Given the description of an element on the screen output the (x, y) to click on. 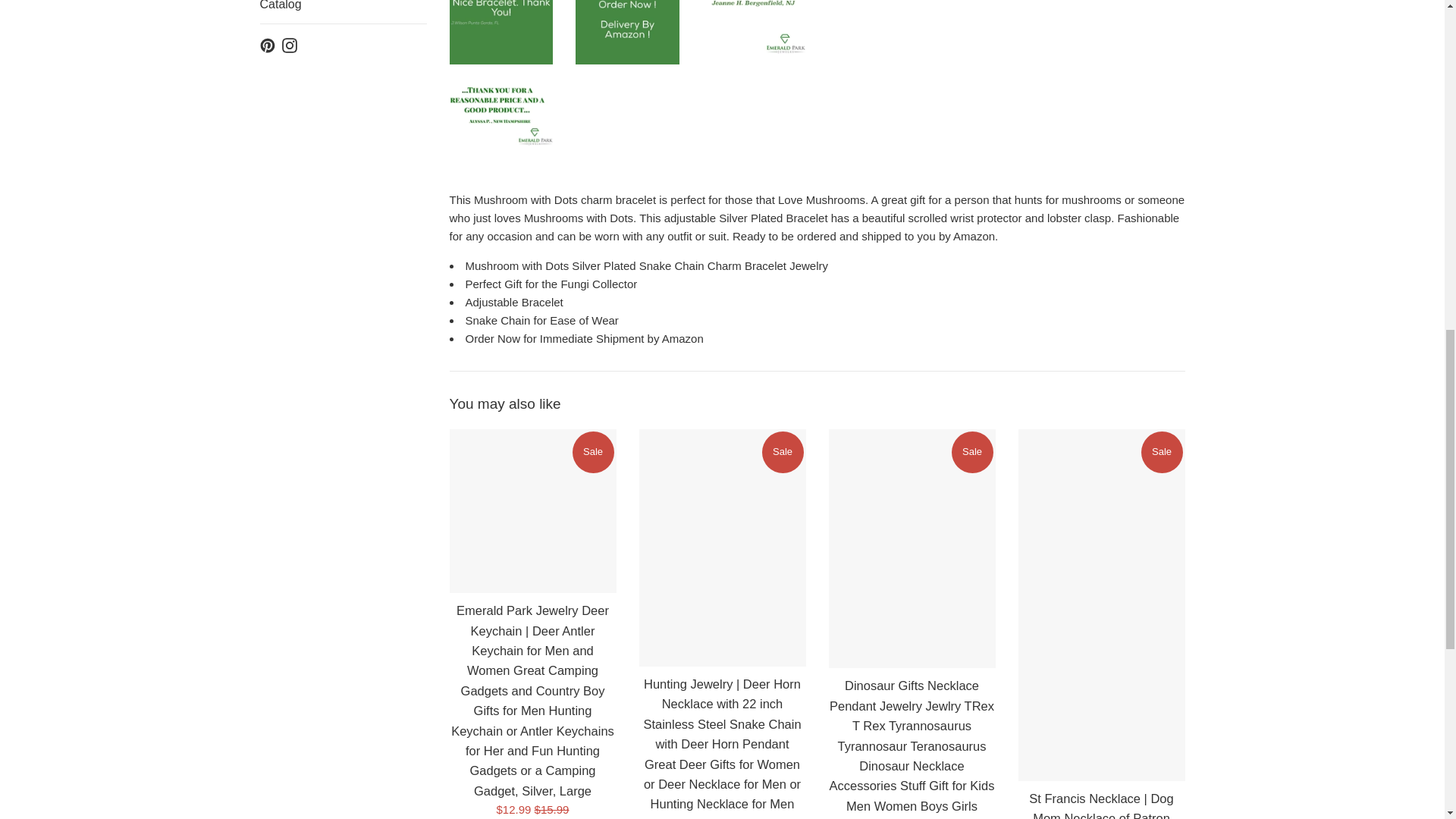
Pinterest (267, 43)
Instagram (289, 43)
Catalog (342, 11)
Dave The Bunny on Pinterest (267, 43)
Dave The Bunny on Instagram (289, 43)
